Given the description of an element on the screen output the (x, y) to click on. 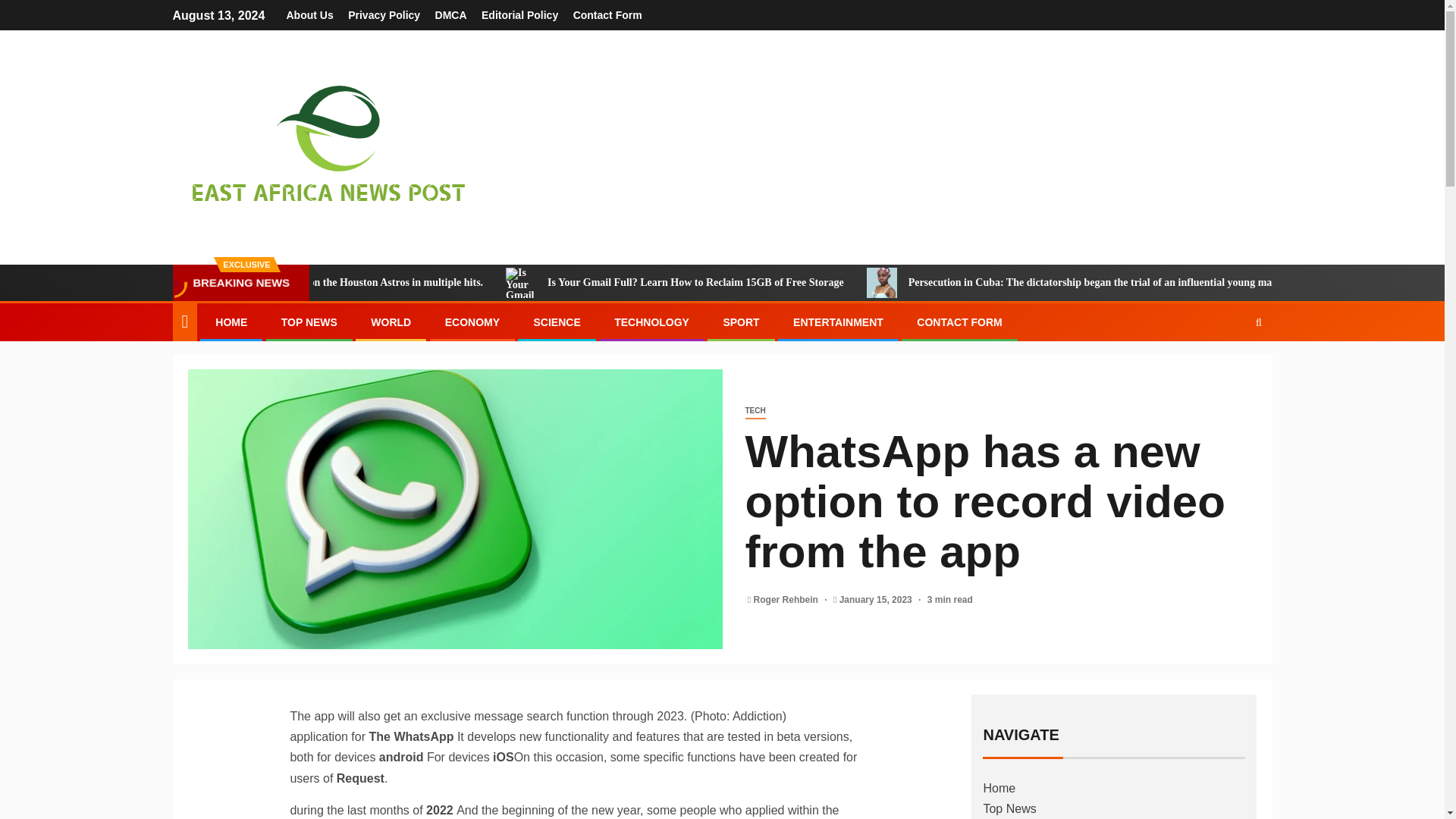
TECHNOLOGY (651, 322)
ECONOMY (472, 322)
WORLD (390, 322)
Privacy Policy (383, 15)
TOP NEWS (309, 322)
SCIENCE (555, 322)
ENTERTAINMENT (838, 322)
About Us (309, 15)
DMCA (451, 15)
